Given the description of an element on the screen output the (x, y) to click on. 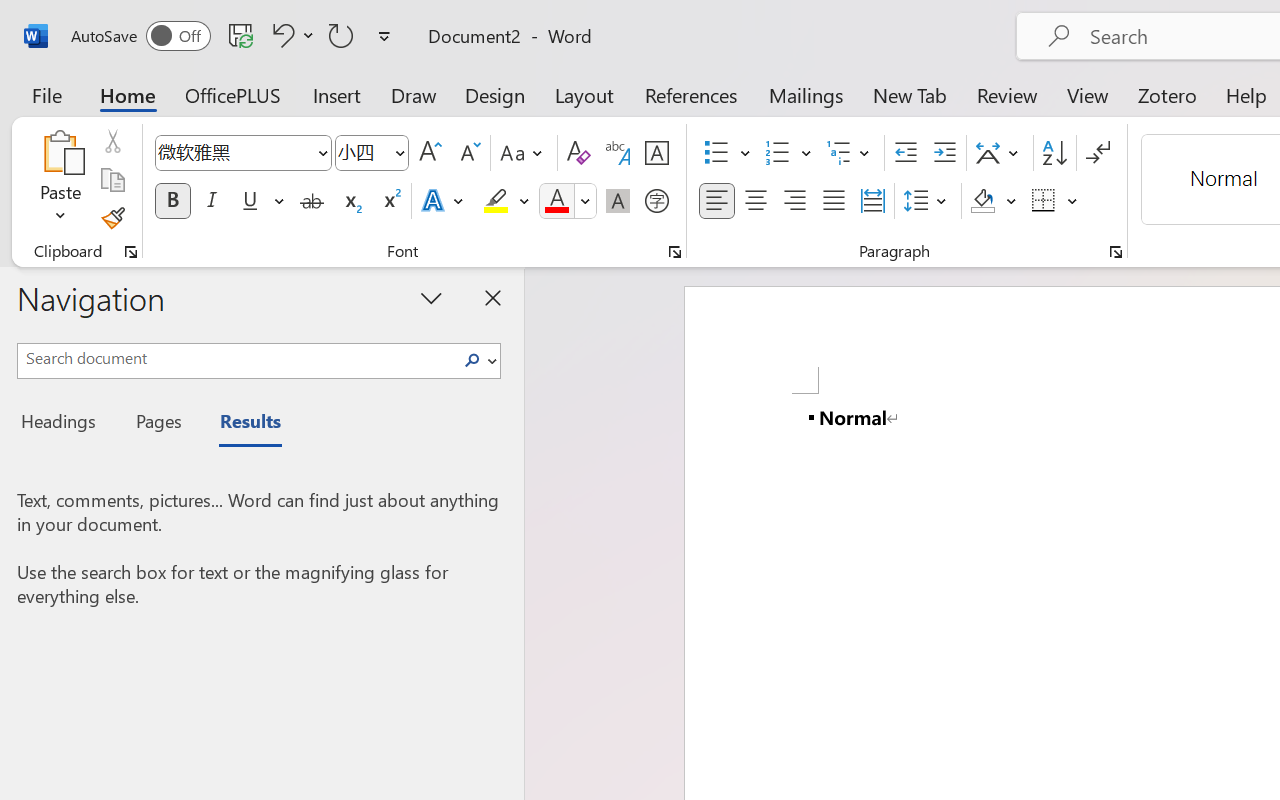
Search (478, 360)
Underline (261, 201)
Undo Text Fill Effect (290, 35)
Enclose Characters... (656, 201)
Borders (1055, 201)
OfficePLUS (233, 94)
Subscript (350, 201)
Shading RGB(0, 0, 0) (982, 201)
Shrink Font (468, 153)
Font Color (567, 201)
Mailings (806, 94)
Open (399, 152)
Superscript (390, 201)
Bold (172, 201)
